Given the description of an element on the screen output the (x, y) to click on. 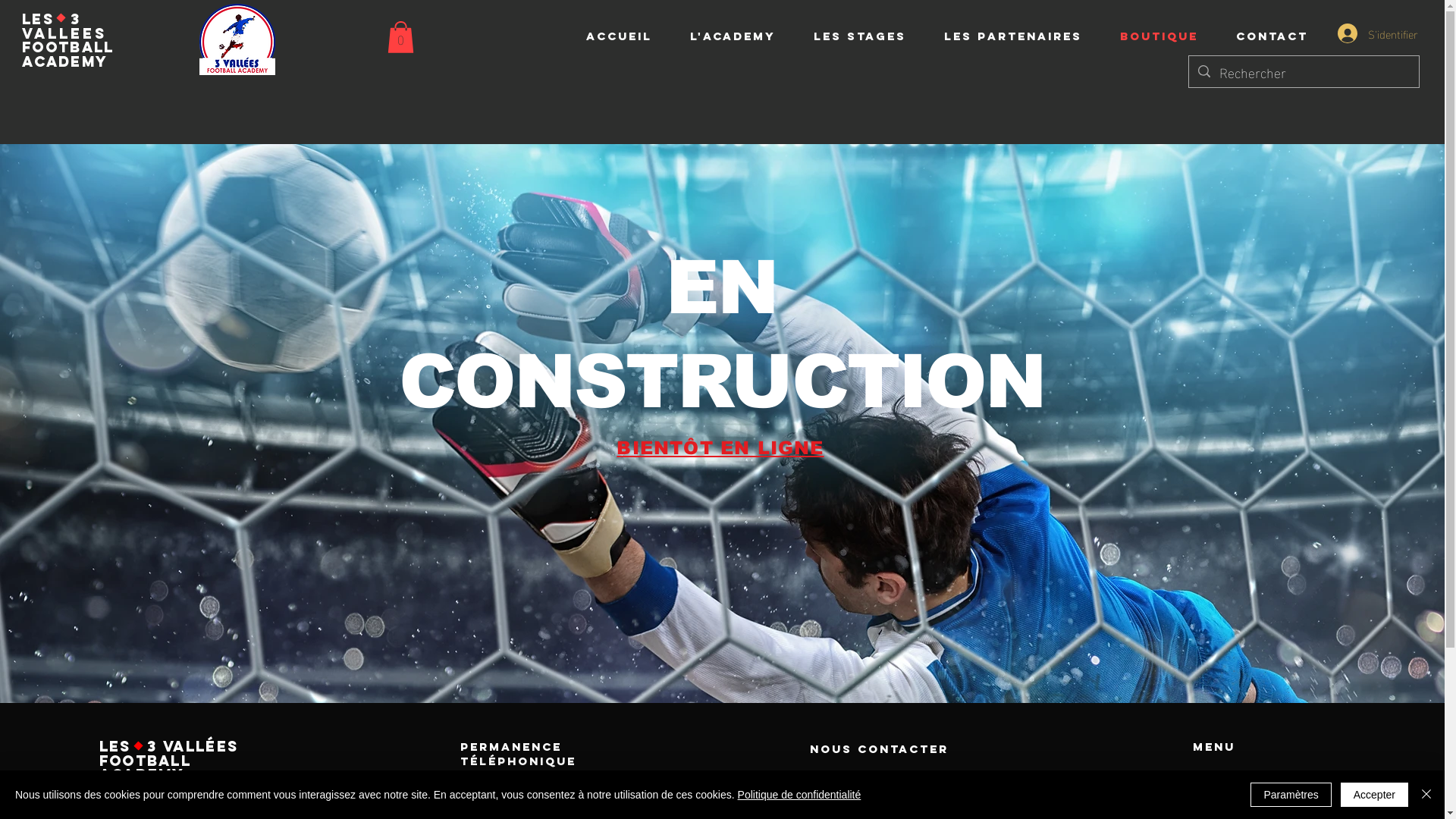
0 Element type: text (400, 37)
L'ACADEMY Element type: text (732, 36)
S'identifier Element type: text (1370, 32)
CONTACT Element type: text (1272, 36)
ACCUEIL Element type: text (619, 36)
LES PARTENAIRES Element type: text (1013, 36)
BOUTIQUE Element type: text (1159, 36)
LES   3 VALLEES
FOOTBALL
ACADEMY Element type: text (67, 39)
Accepter Element type: text (1374, 794)
LES STAGES Element type: text (859, 36)
Accueil Element type: text (1228, 792)
